Given the description of an element on the screen output the (x, y) to click on. 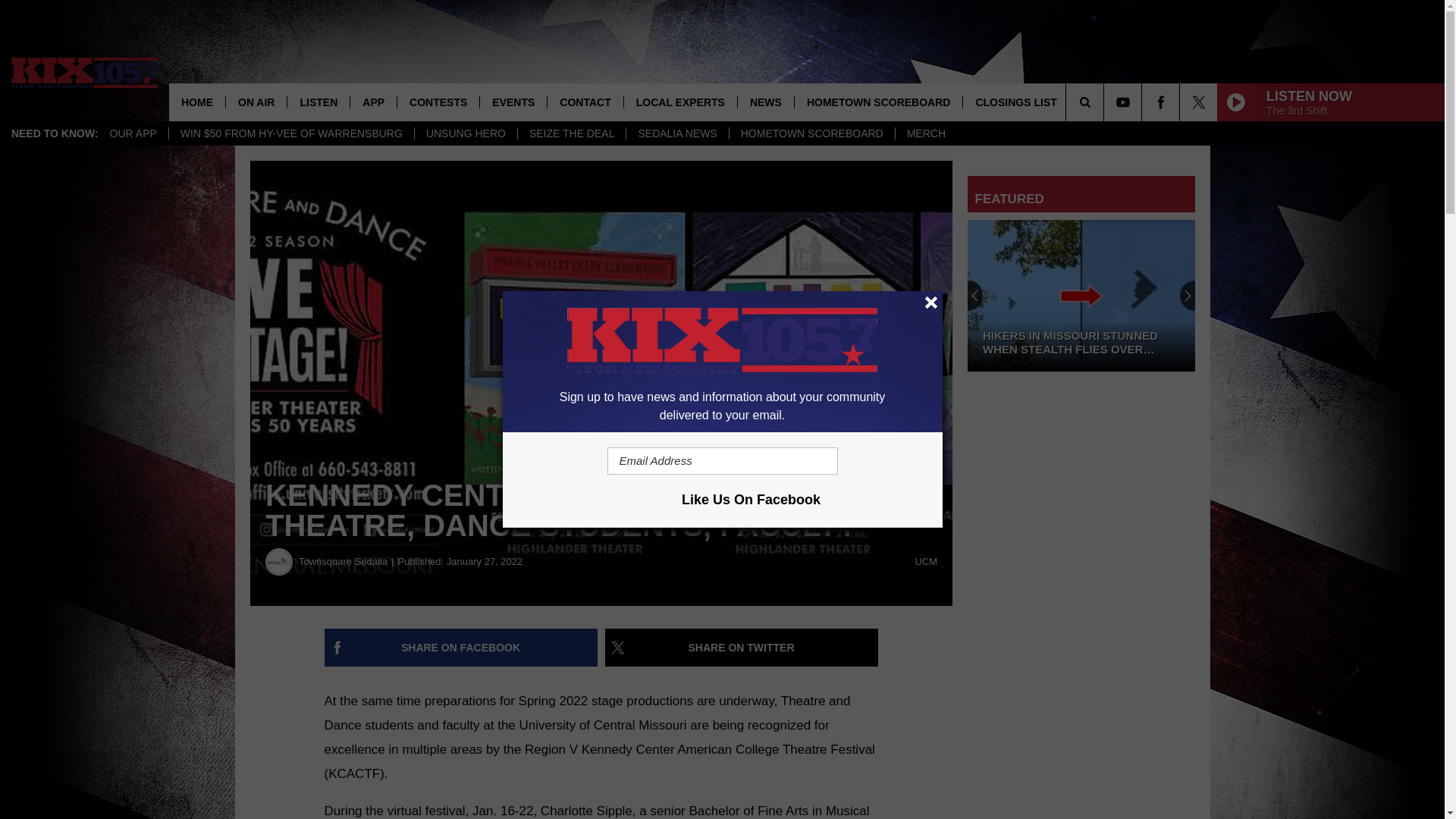
SEDALIA NEWS (677, 133)
APP (372, 102)
HOME (196, 102)
EVENTS (513, 102)
UNSUNG HERO (464, 133)
HOMETOWN SCOREBOARD (812, 133)
LISTEN (317, 102)
CONTESTS (437, 102)
SEARCH (1106, 102)
MERCH (925, 133)
SEARCH (1106, 102)
ON AIR (255, 102)
OUR APP (133, 133)
Share on Facebook (460, 647)
SEIZE THE DEAL (571, 133)
